Given the description of an element on the screen output the (x, y) to click on. 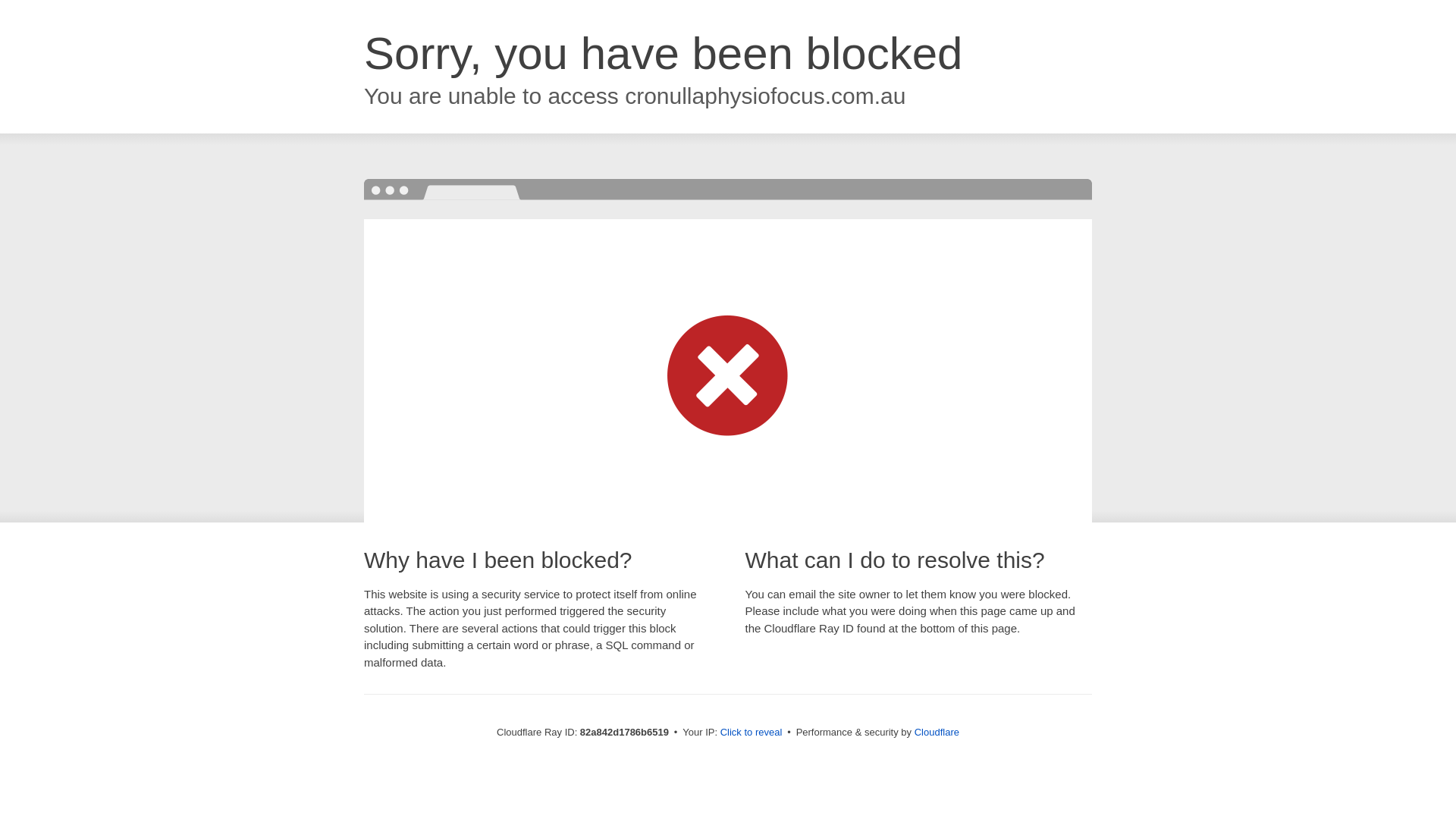
Click to reveal Element type: text (751, 732)
Cloudflare Element type: text (936, 731)
